Given the description of an element on the screen output the (x, y) to click on. 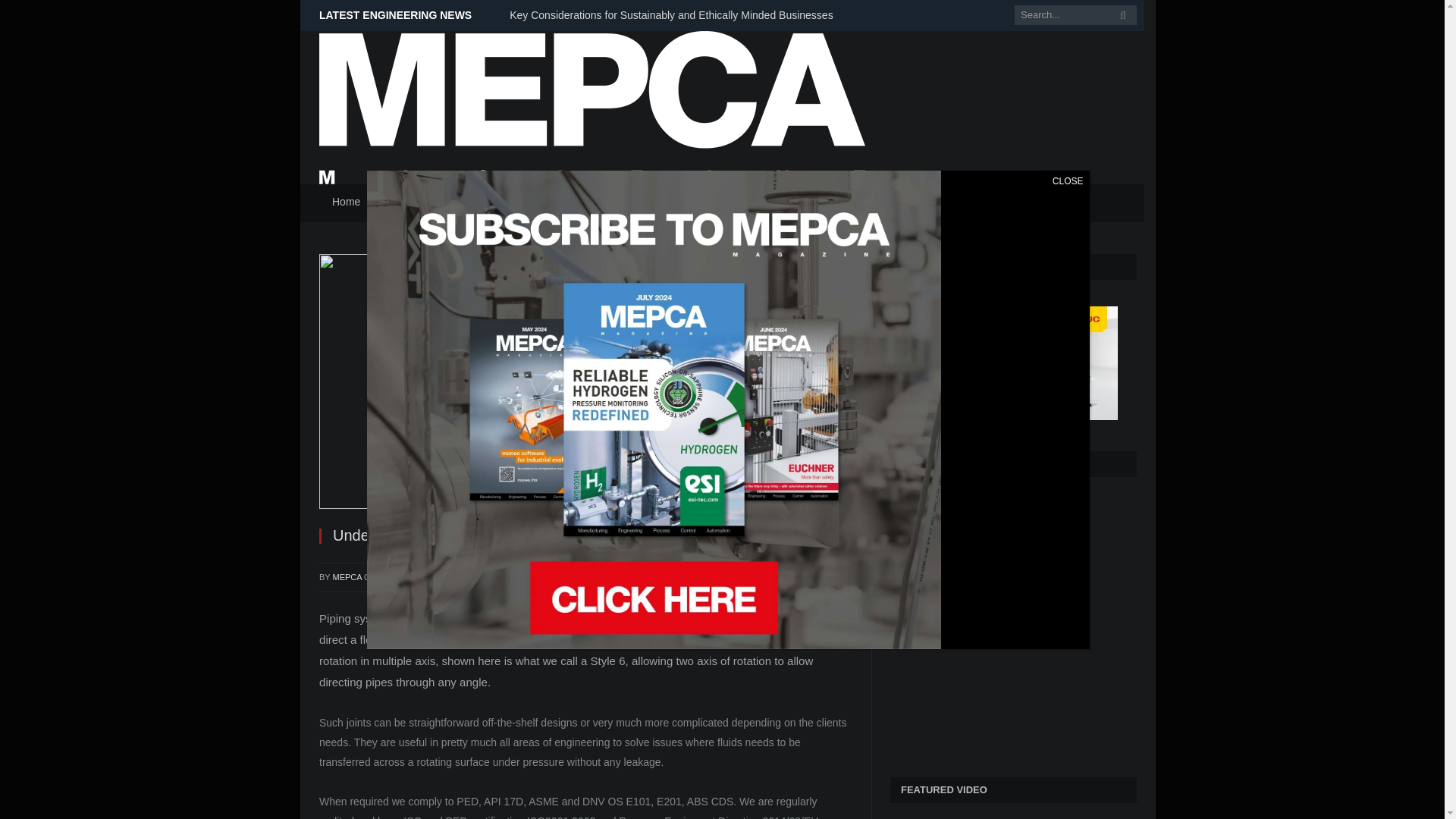
Magazines (478, 202)
News (403, 202)
Home (345, 202)
Mepca Engineering (591, 105)
2018-01-30 (415, 576)
Posts by MEPCA (347, 576)
